Given the description of an element on the screen output the (x, y) to click on. 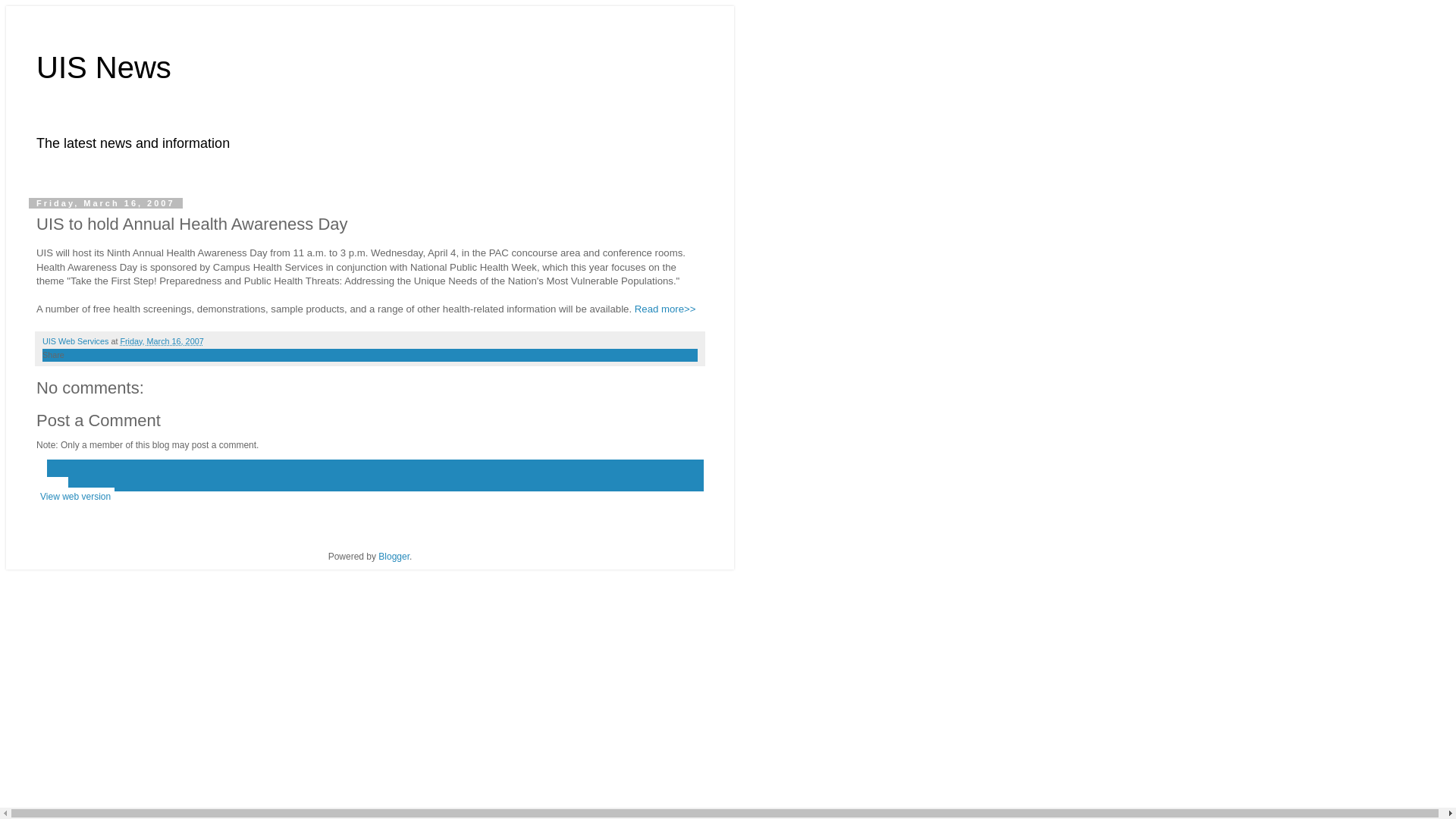
UIS News (103, 67)
UIS Web Services (76, 340)
author profile (76, 340)
View web version (75, 496)
Post a Comment (98, 420)
Friday, March 16, 2007 (161, 340)
permanent link (161, 340)
Share (53, 354)
Blogger (393, 556)
Home (52, 485)
